Given the description of an element on the screen output the (x, y) to click on. 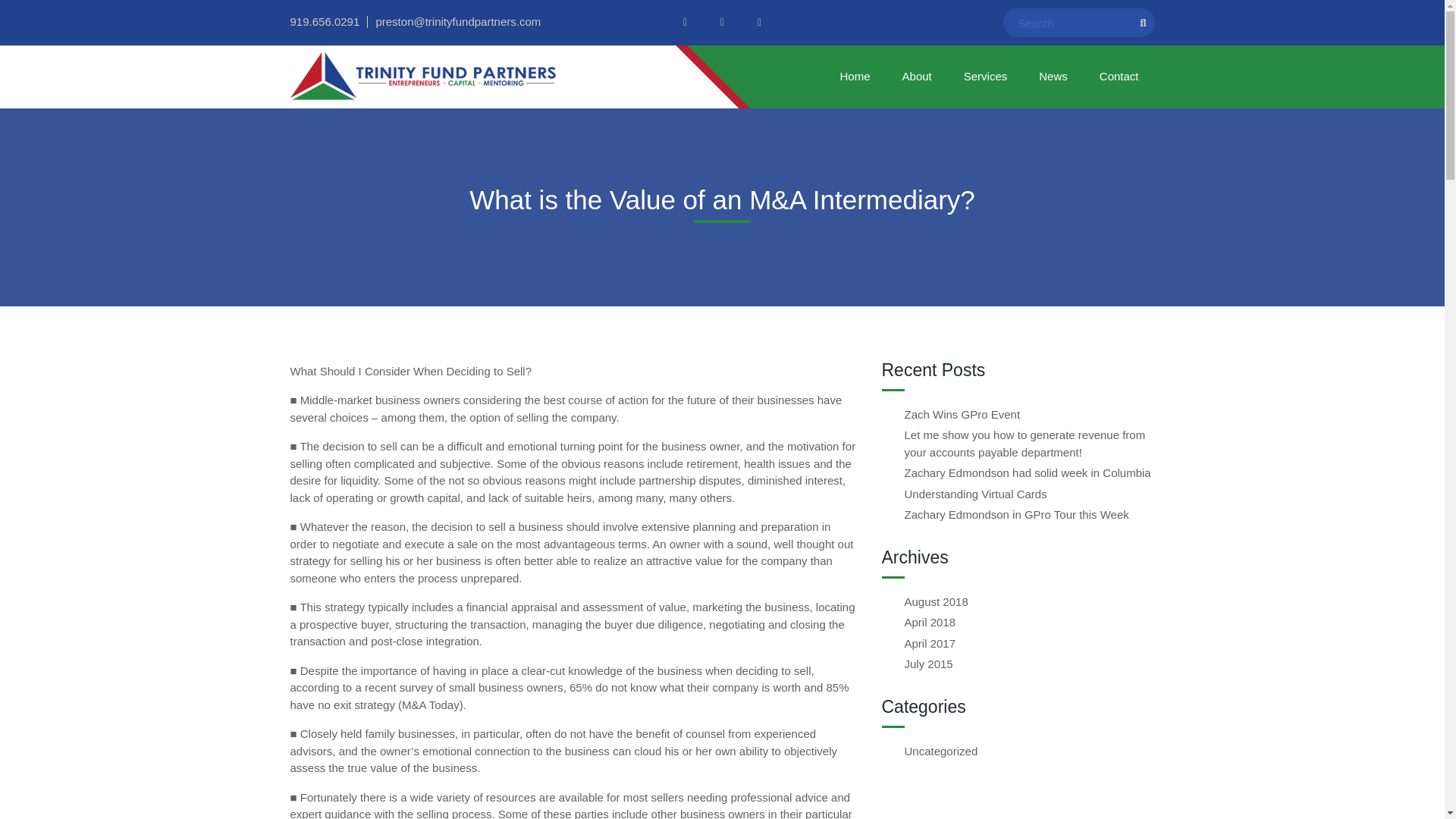
About (916, 76)
April 2017 (929, 643)
News (1053, 76)
Contact (1118, 76)
919.656.0291 (324, 21)
Zachary Edmondson had solid week in Columbia (1027, 472)
April 2018 (929, 621)
Zachary Edmondson in GPro Tour this Week (1016, 513)
Uncategorized (940, 750)
